Given the description of an element on the screen output the (x, y) to click on. 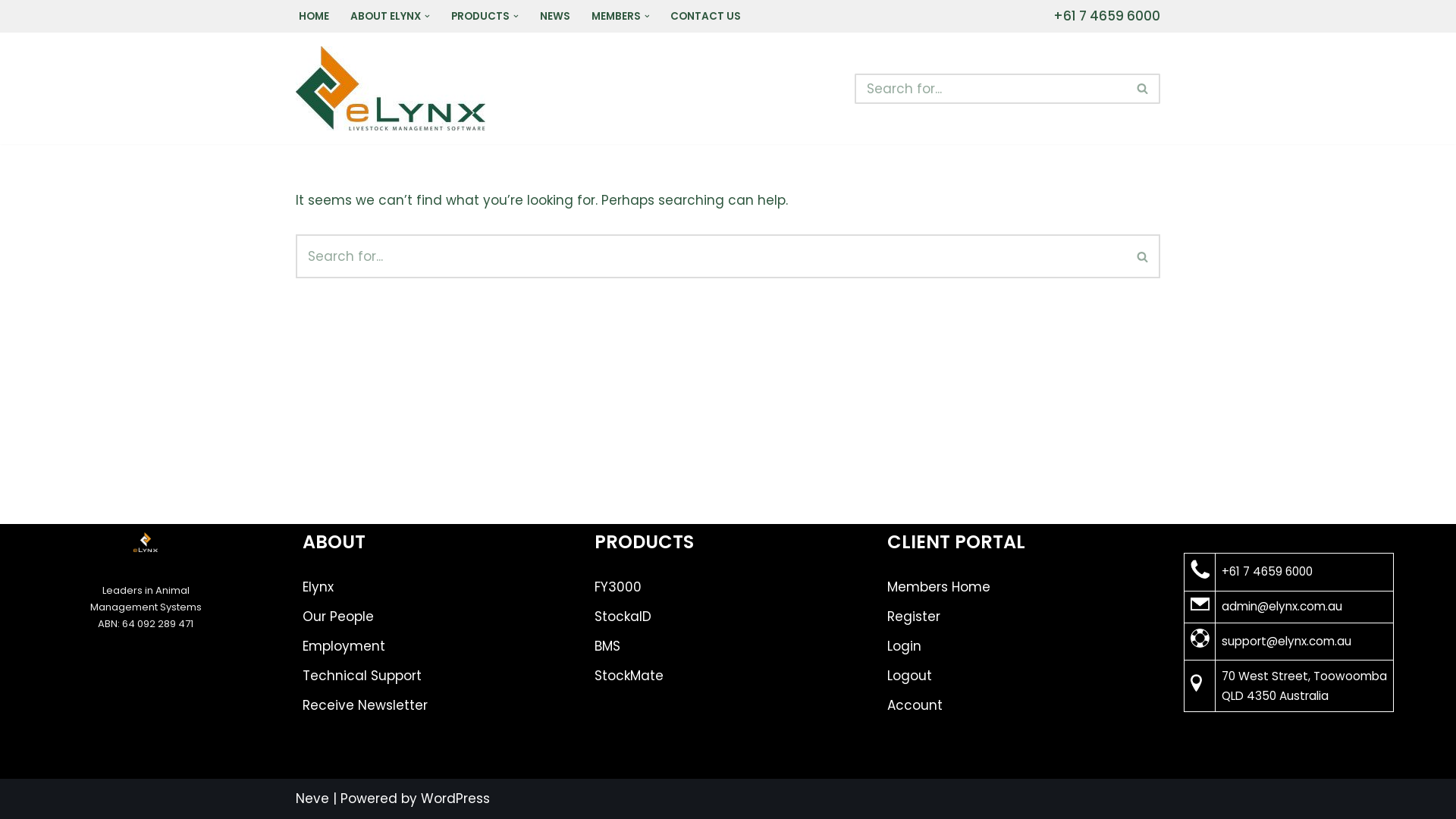
MEMBERS Element type: text (615, 15)
PRODUCTS Element type: text (480, 15)
Technical Support Element type: text (361, 675)
HOME Element type: text (313, 15)
Elynx Element type: text (317, 586)
support@elynx.com.au Element type: text (1286, 641)
NEWS Element type: text (554, 15)
Elynx - Livestock Management Systems Element type: hover (393, 88)
Our People Element type: text (337, 616)
Account Element type: text (914, 705)
CONTACT US Element type: text (705, 15)
StockMate Element type: text (628, 675)
admin@elynx.com.au Element type: text (1281, 606)
Receive Newsletter Element type: text (364, 705)
BMS Element type: text (607, 646)
Skip to content Element type: text (11, 31)
Employment Element type: text (343, 646)
Neve Element type: text (312, 798)
StockaID Element type: text (622, 616)
ABOUT ELYNX Element type: text (385, 15)
Members Home Element type: text (938, 586)
Logout Element type: text (909, 675)
Register Element type: text (913, 616)
FY3000 Element type: text (617, 586)
Login Element type: text (904, 646)
WordPress Element type: text (454, 798)
